Given the description of an element on the screen output the (x, y) to click on. 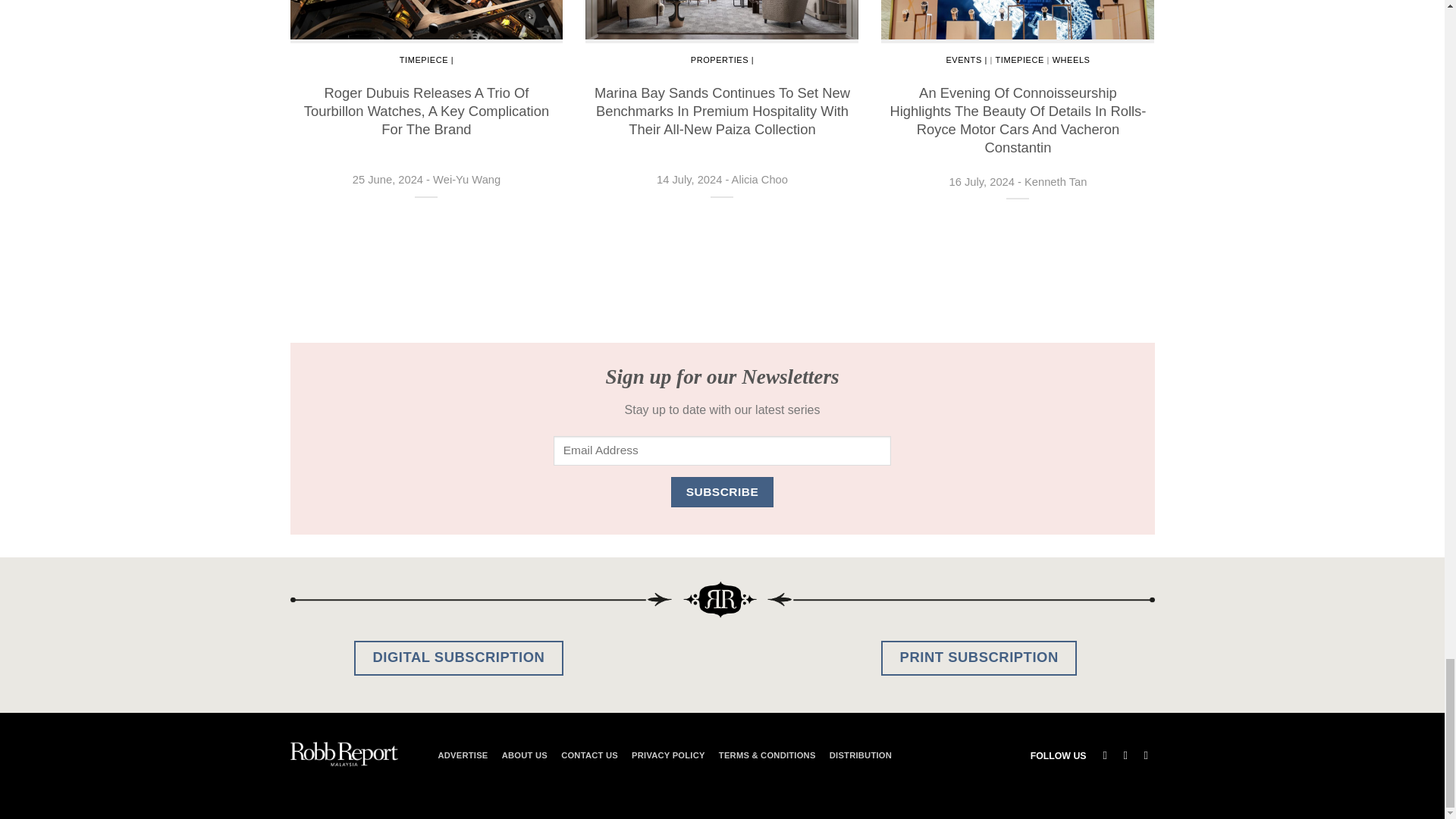
Subscribe (722, 491)
